Given the description of an element on the screen output the (x, y) to click on. 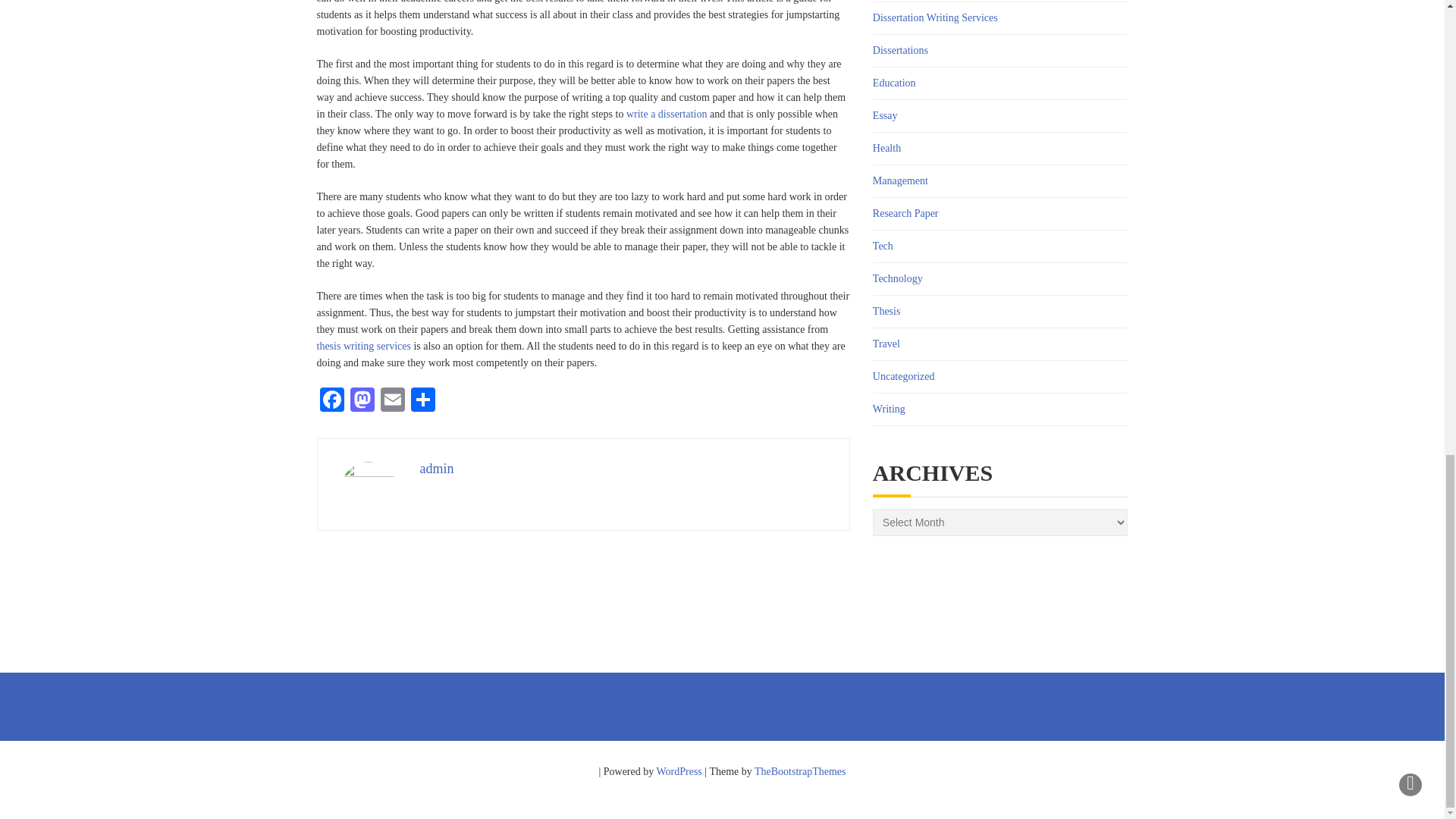
write a dissertation (666, 113)
Share (422, 401)
Facebook (332, 401)
Mastodon (362, 401)
Email (392, 401)
Mastodon (362, 401)
admin (437, 468)
Email (392, 401)
Facebook (332, 401)
thesis writing services (363, 346)
